Given the description of an element on the screen output the (x, y) to click on. 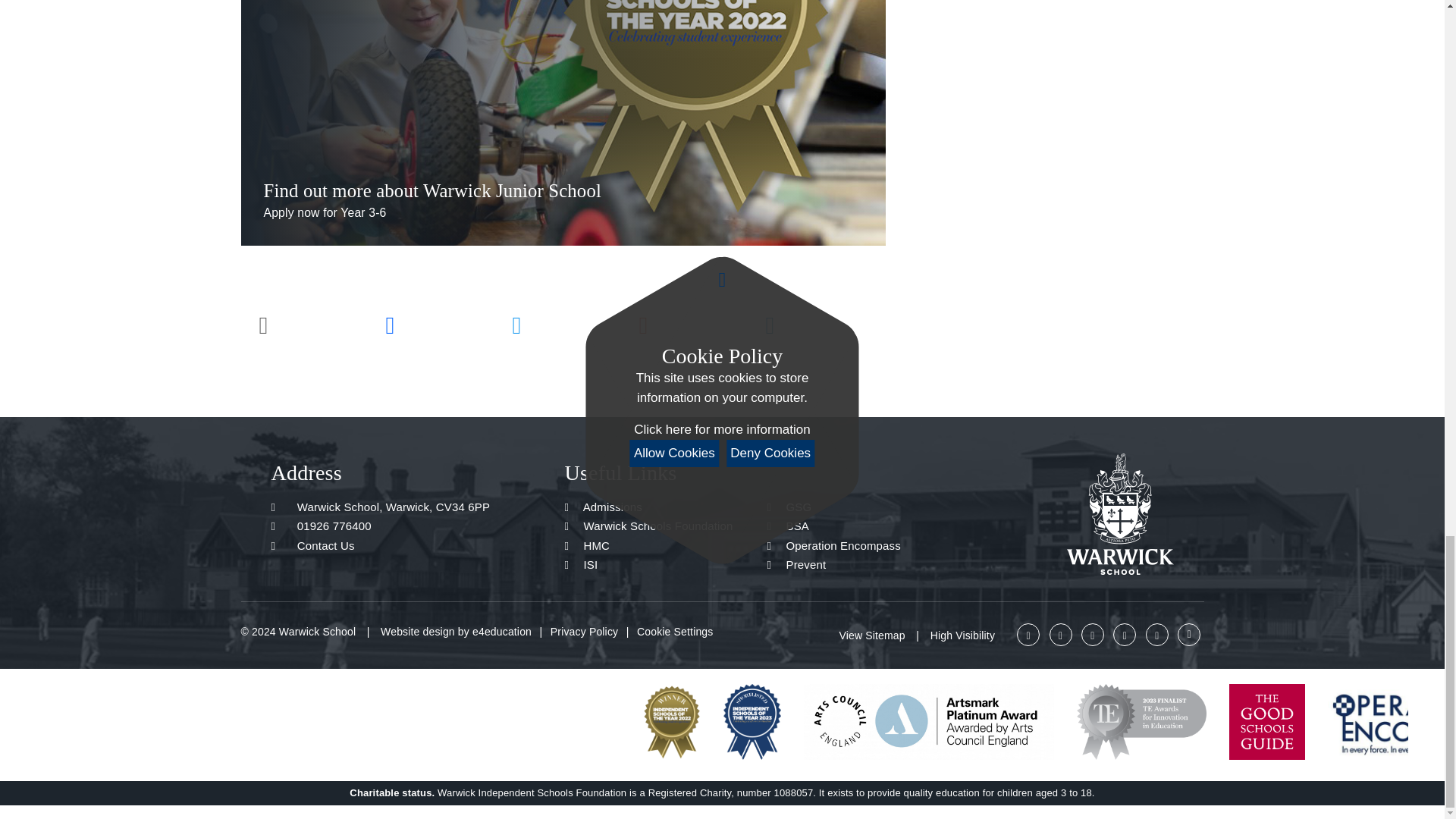
facebook (1157, 634)
Cookie Settings (675, 631)
vimeo (1027, 634)
twitter (1124, 634)
pinterest (1092, 634)
youtube (1060, 634)
